Given the description of an element on the screen output the (x, y) to click on. 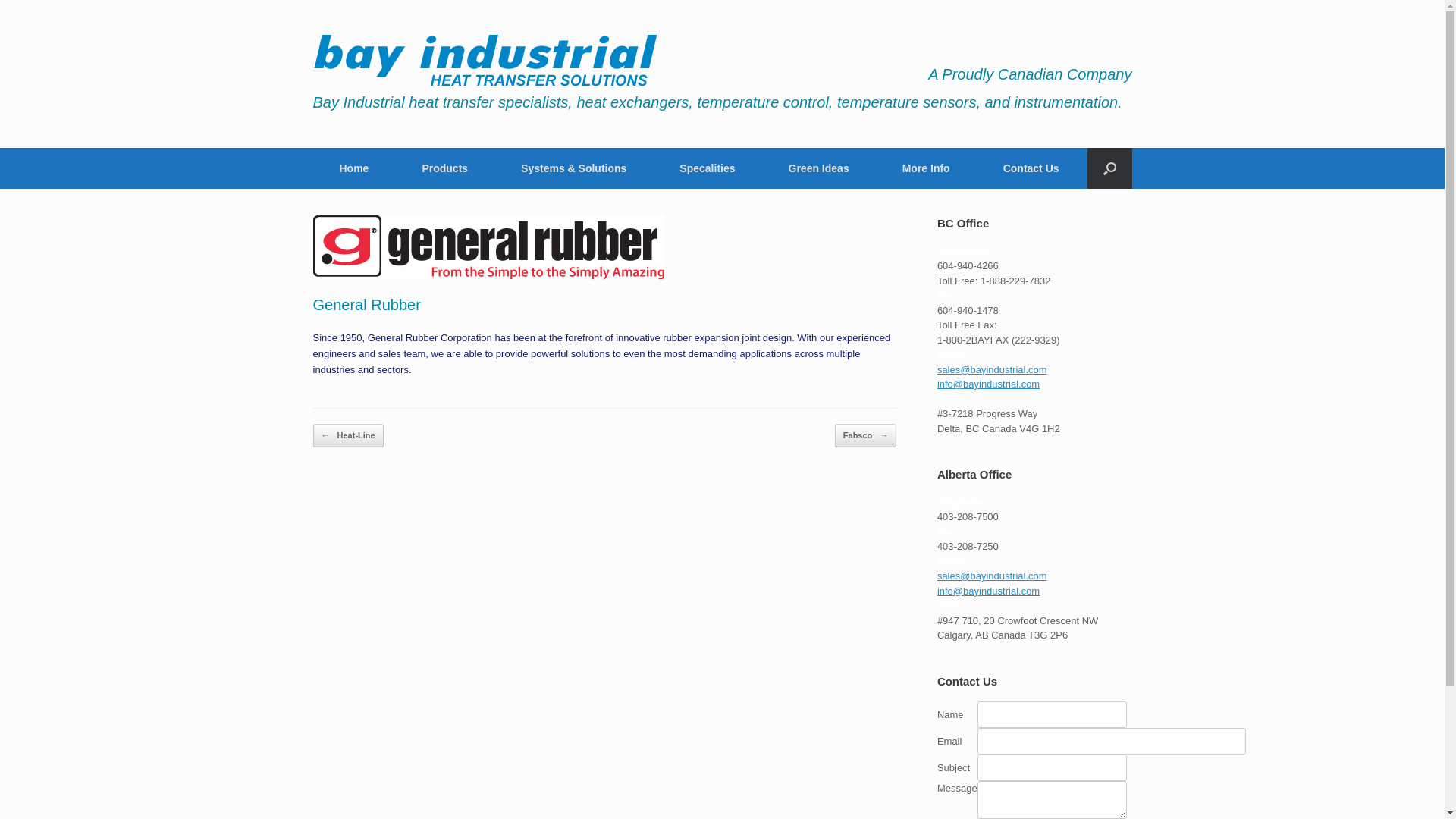
Bay Industrial Element type: hover (484, 60)
More Info Element type: text (925, 167)
Systems & Solutions Element type: text (573, 167)
sales@bayindustrial.com Element type: text (992, 575)
Specalities Element type: text (706, 167)
Home Element type: text (353, 167)
Products Element type: text (444, 167)
Contact Us Element type: text (1030, 167)
info@bayindustrial.com Element type: text (988, 590)
info@bayindustrial.com Element type: text (988, 383)
sales@bayindustrial.com Element type: text (992, 369)
Green Ideas Element type: text (818, 167)
